Given the description of an element on the screen output the (x, y) to click on. 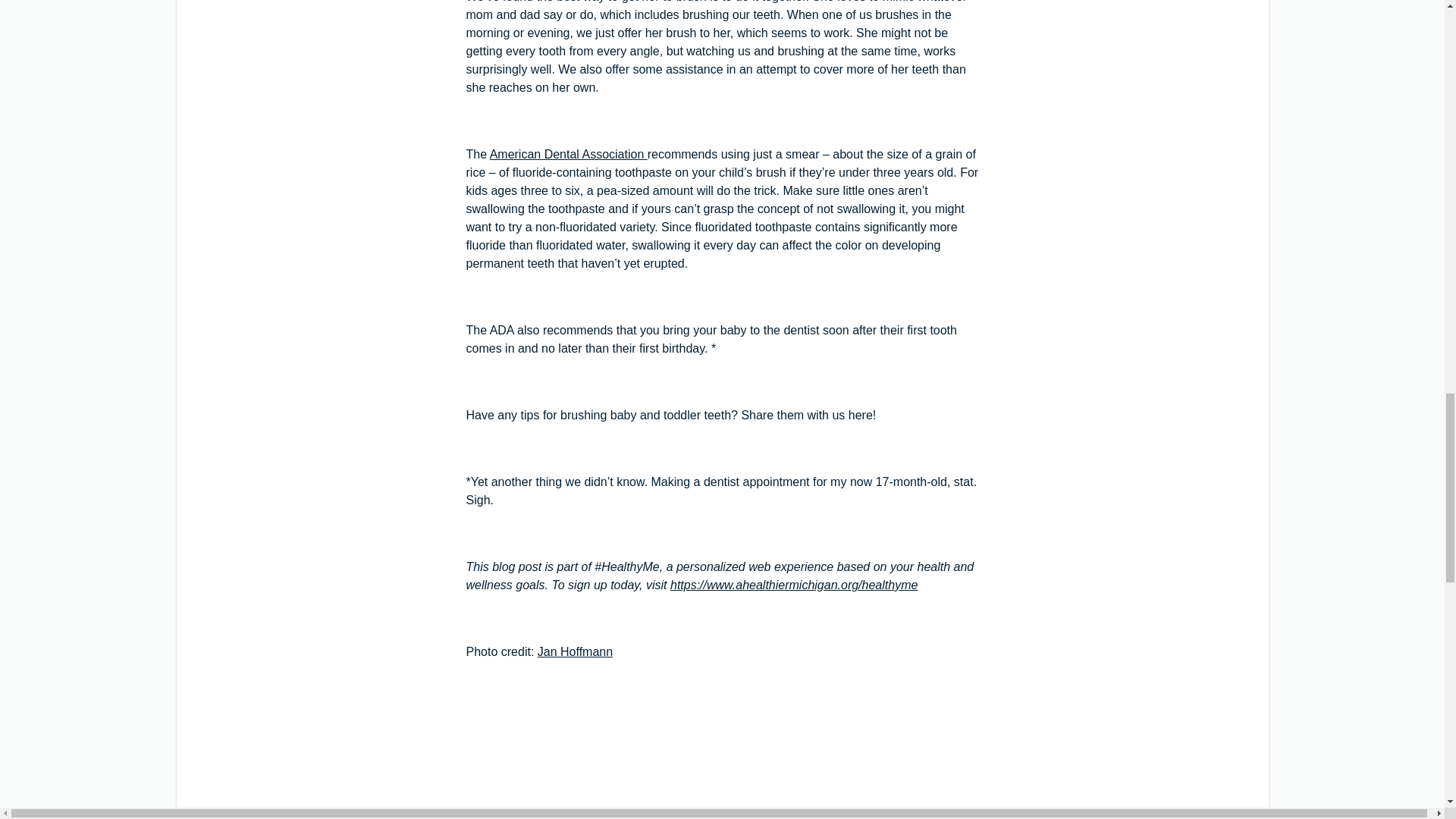
American Dental Association (568, 154)
Jan Hoffmann (574, 651)
